Given the description of an element on the screen output the (x, y) to click on. 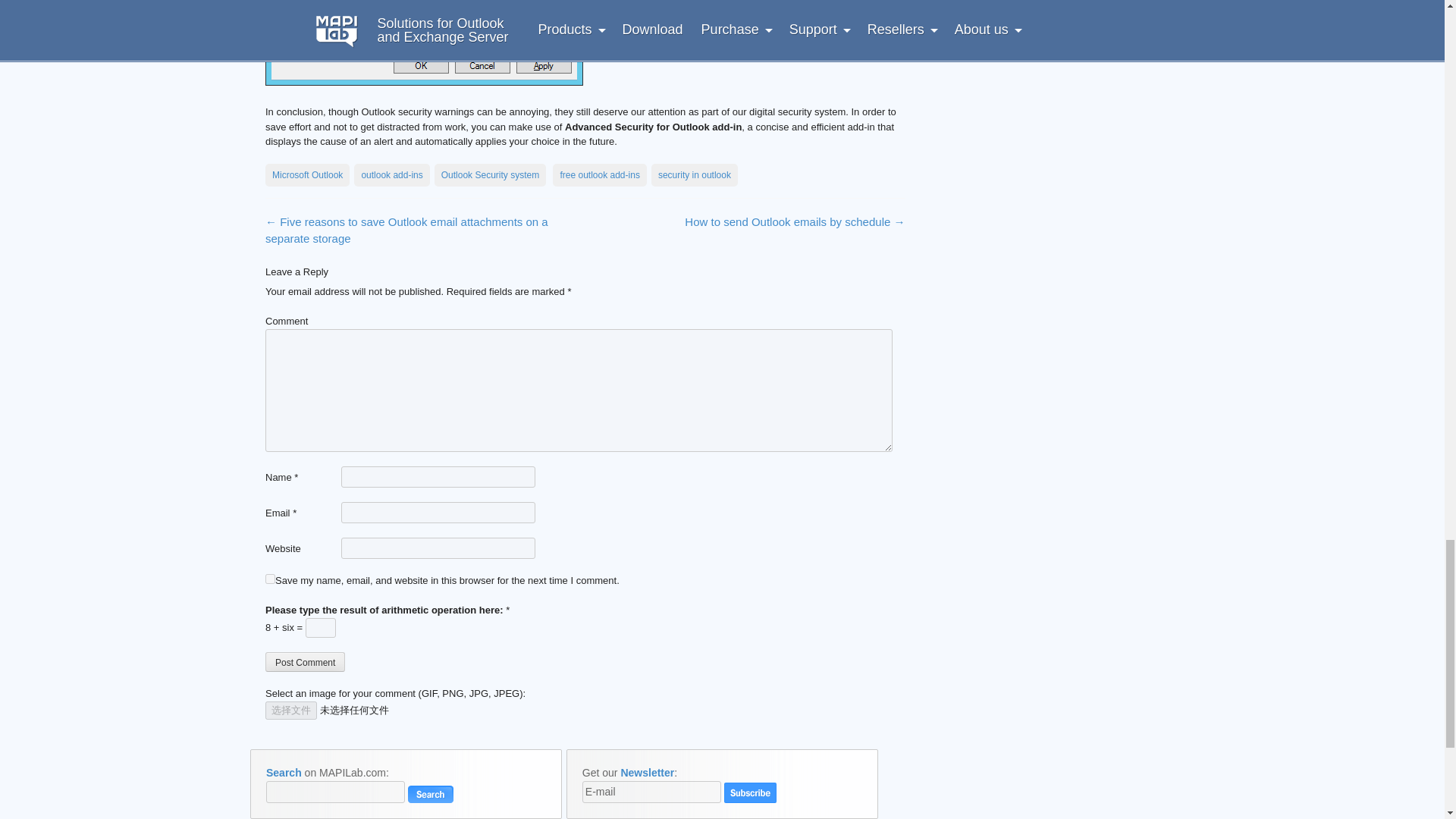
yes (269, 578)
Post Comment (304, 661)
E-mail (651, 792)
